Given the description of an element on the screen output the (x, y) to click on. 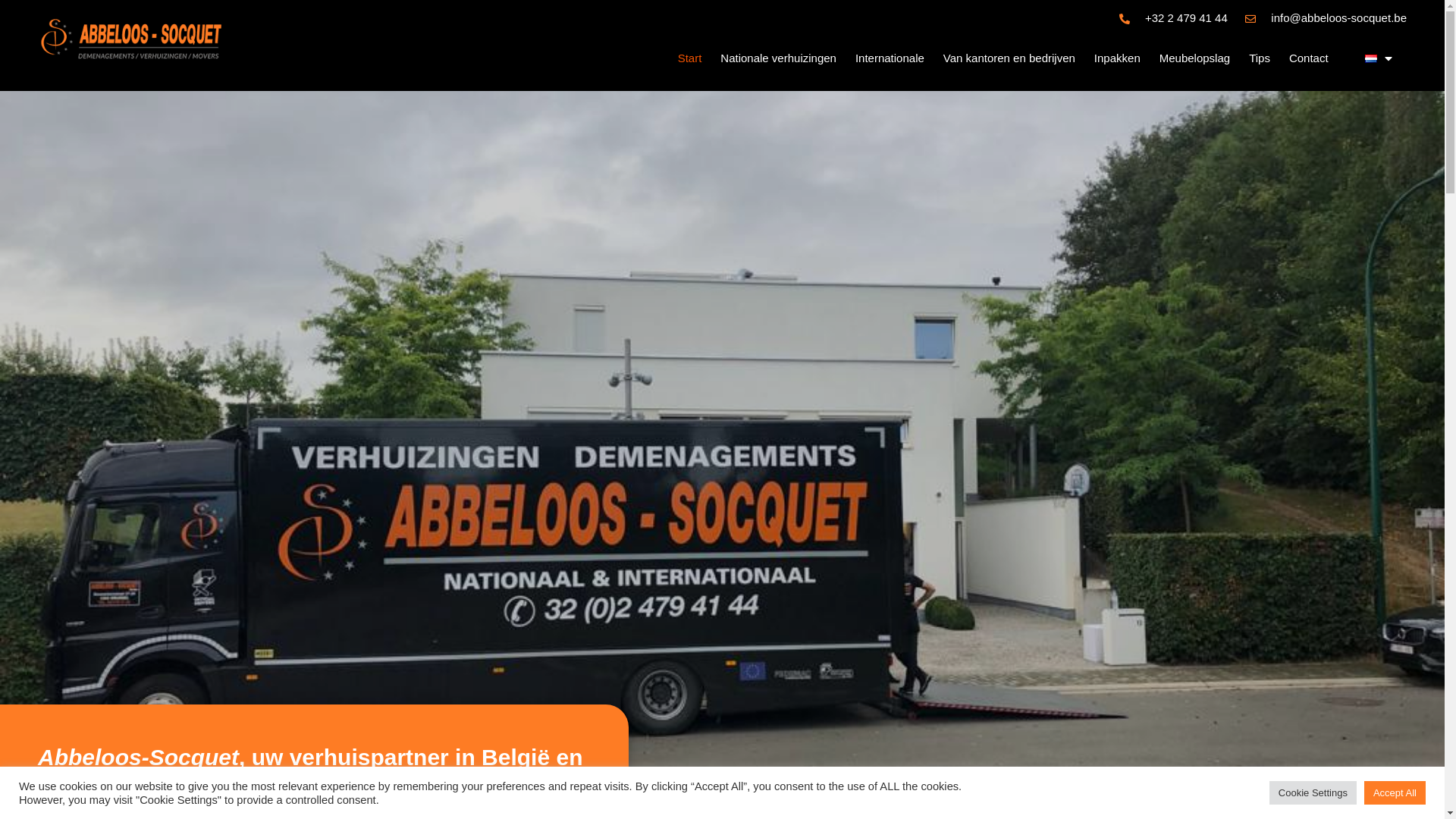
Grimbergen (1850) Element type: text (453, 583)
Kraainem (1950) Element type: text (453, 642)
Sint-Jans-Molenbeek (1080) Element type: text (669, 642)
Schaarbeek (1030) Element type: text (669, 583)
+32 2 479 41 44 Element type: text (1171, 18)
Zaventem (1930) Element type: text (886, 701)
Evere (1140) Element type: text (232, 701)
+32 2 479 41 44 Element type: text (517, 496)
Koekelberg (1081) Element type: text (453, 622)
Sint-Genesius-Rode (1640) Element type: text (669, 622)
Meubelopslag Element type: text (1194, 57)
Etterbeek (1040) Element type: text (232, 682)
Bluetime Element type: text (1204, 609)
Accept All Element type: text (1394, 792)
Cookie Settings Element type: text (1312, 792)
Meise (1860) Element type: text (453, 682)
Brussel (1000) Element type: text (232, 622)
Jette (1090) Element type: text (453, 603)
Elsene (1050) Element type: text (232, 662)
Dilbeek (1700) Element type: text (232, 642)
Tips Element type: text (1259, 57)
Sint-Pieters-Woluwe (1150) Element type: text (669, 701)
Sint-Agatha-Berchem (1082) Element type: text (669, 603)
info@abbeloos-socquet.be Element type: text (545, 473)
Vilvoorde (1800) Element type: text (886, 603)
Wemmel (1780) Element type: text (886, 682)
info@abbeloos-socquet.be Element type: text (1324, 18)
Sint-Lambrechts-Woluwe (1200) Element type: text (669, 682)
Van kantoren en bedrijven Element type: text (1009, 57)
Start Element type: text (689, 57)
Internationale Element type: text (889, 57)
Laken (1020) Element type: text (453, 662)
Nationale verhuizingen Element type: text (778, 57)
Ganshoren (1083) Element type: text (232, 721)
Merchtem (1785) Element type: text (453, 701)
Contact Element type: text (1308, 57)
Inpakken Element type: text (1117, 57)
